Given the description of an element on the screen output the (x, y) to click on. 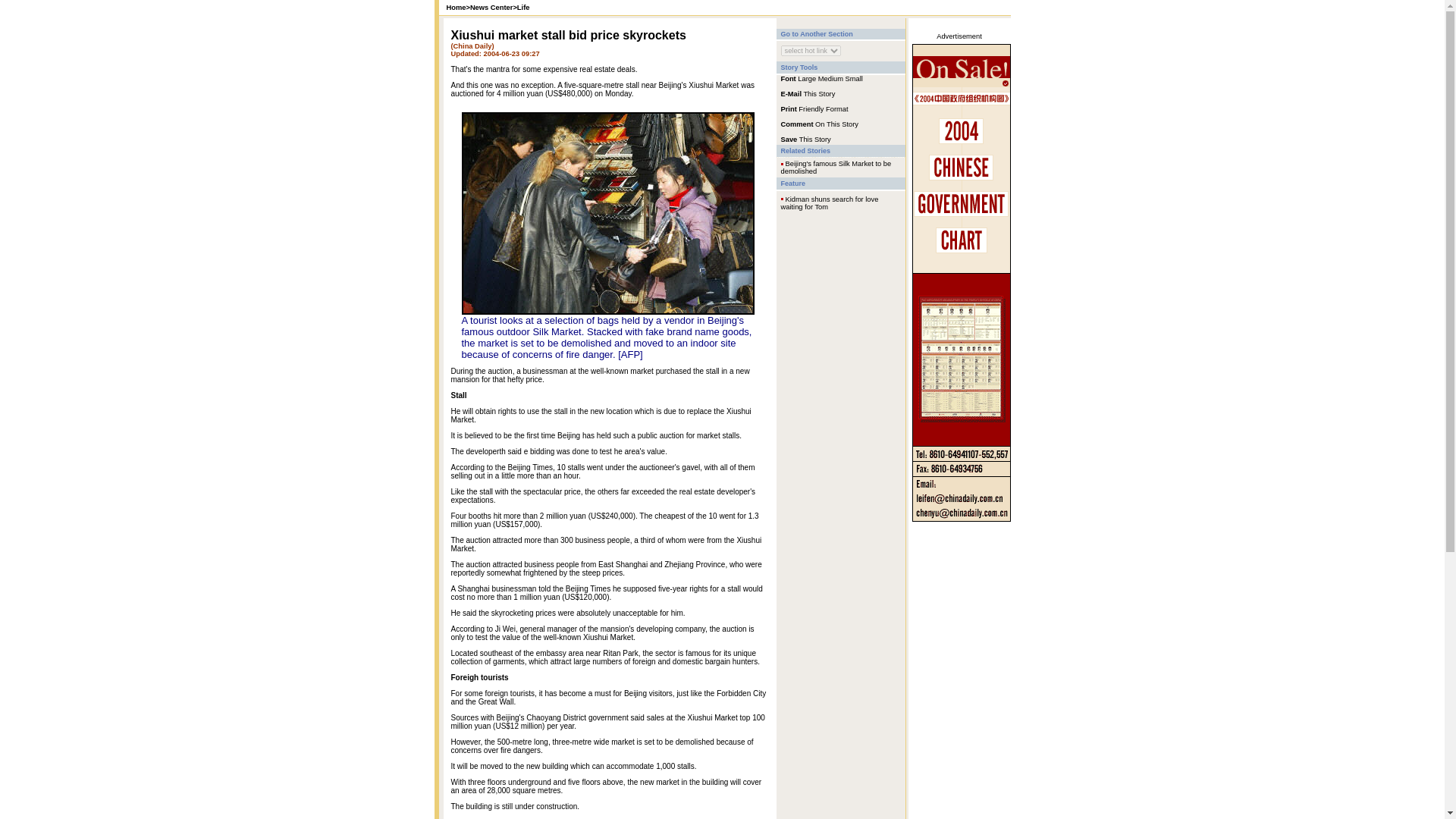
Comment On This Story (819, 122)
Beijing's famous Silk Market to be demolished (835, 167)
Large (806, 78)
Kidman shuns search for love waiting for Tom (829, 202)
Life (522, 7)
Print Friendly Format (814, 108)
News Center (491, 7)
E-Mail This Story (807, 92)
Medium (830, 78)
Small (854, 78)
Save This Story (805, 138)
